Given the description of an element on the screen output the (x, y) to click on. 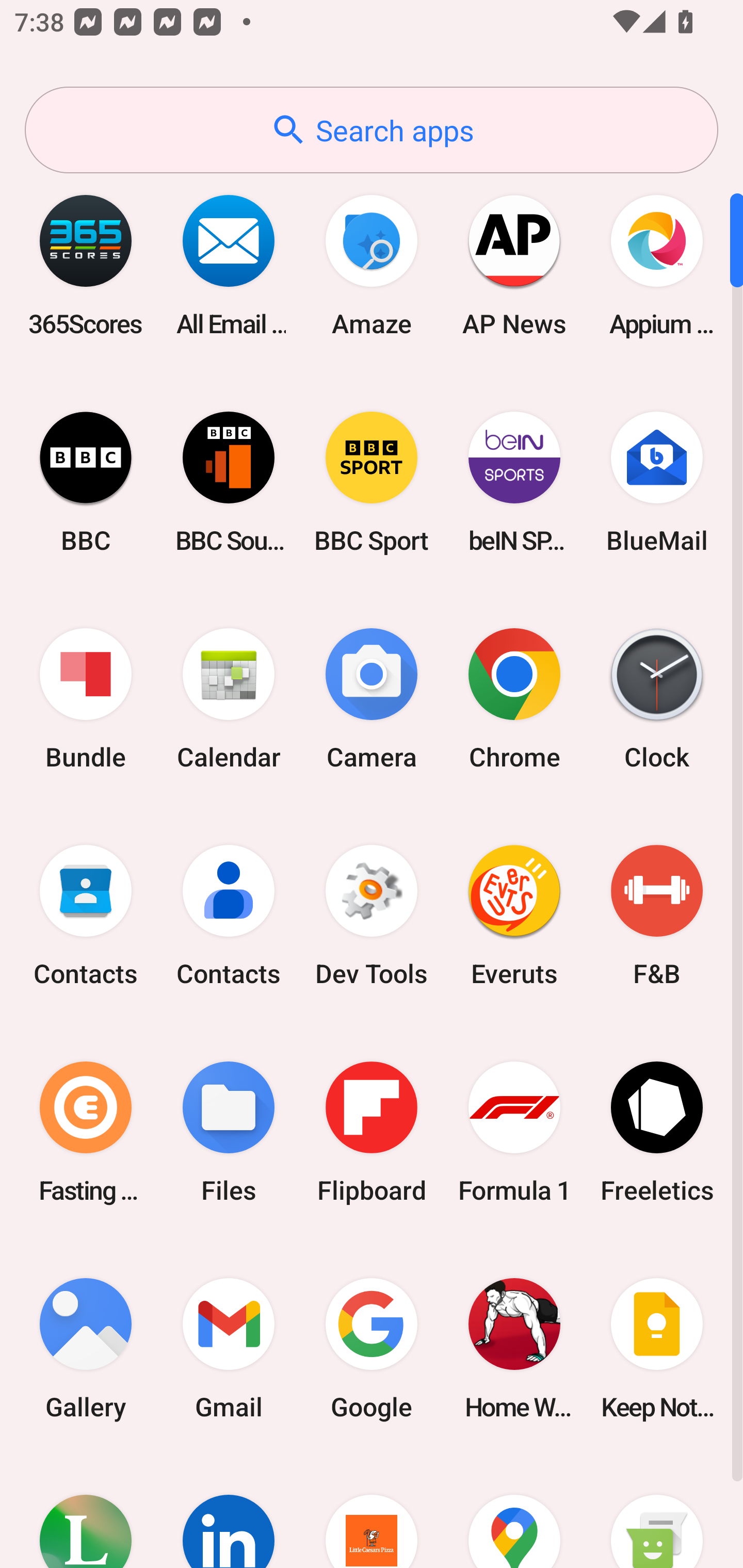
  Search apps (371, 130)
365Scores (85, 264)
All Email Connect (228, 264)
Amaze (371, 264)
AP News (514, 264)
Appium Settings (656, 264)
BBC (85, 482)
BBC Sounds (228, 482)
BBC Sport (371, 482)
beIN SPORTS (514, 482)
BlueMail (656, 482)
Bundle (85, 699)
Calendar (228, 699)
Camera (371, 699)
Chrome (514, 699)
Clock (656, 699)
Contacts (85, 915)
Contacts (228, 915)
Dev Tools (371, 915)
Everuts (514, 915)
F&B (656, 915)
Fasting Coach (85, 1131)
Files (228, 1131)
Flipboard (371, 1131)
Formula 1 (514, 1131)
Freeletics (656, 1131)
Gallery (85, 1348)
Gmail (228, 1348)
Google (371, 1348)
Home Workout (514, 1348)
Keep Notes (656, 1348)
Lifesum (85, 1512)
LinkedIn (228, 1512)
Little Caesars Pizza (371, 1512)
Maps (514, 1512)
Messaging (656, 1512)
